Given the description of an element on the screen output the (x, y) to click on. 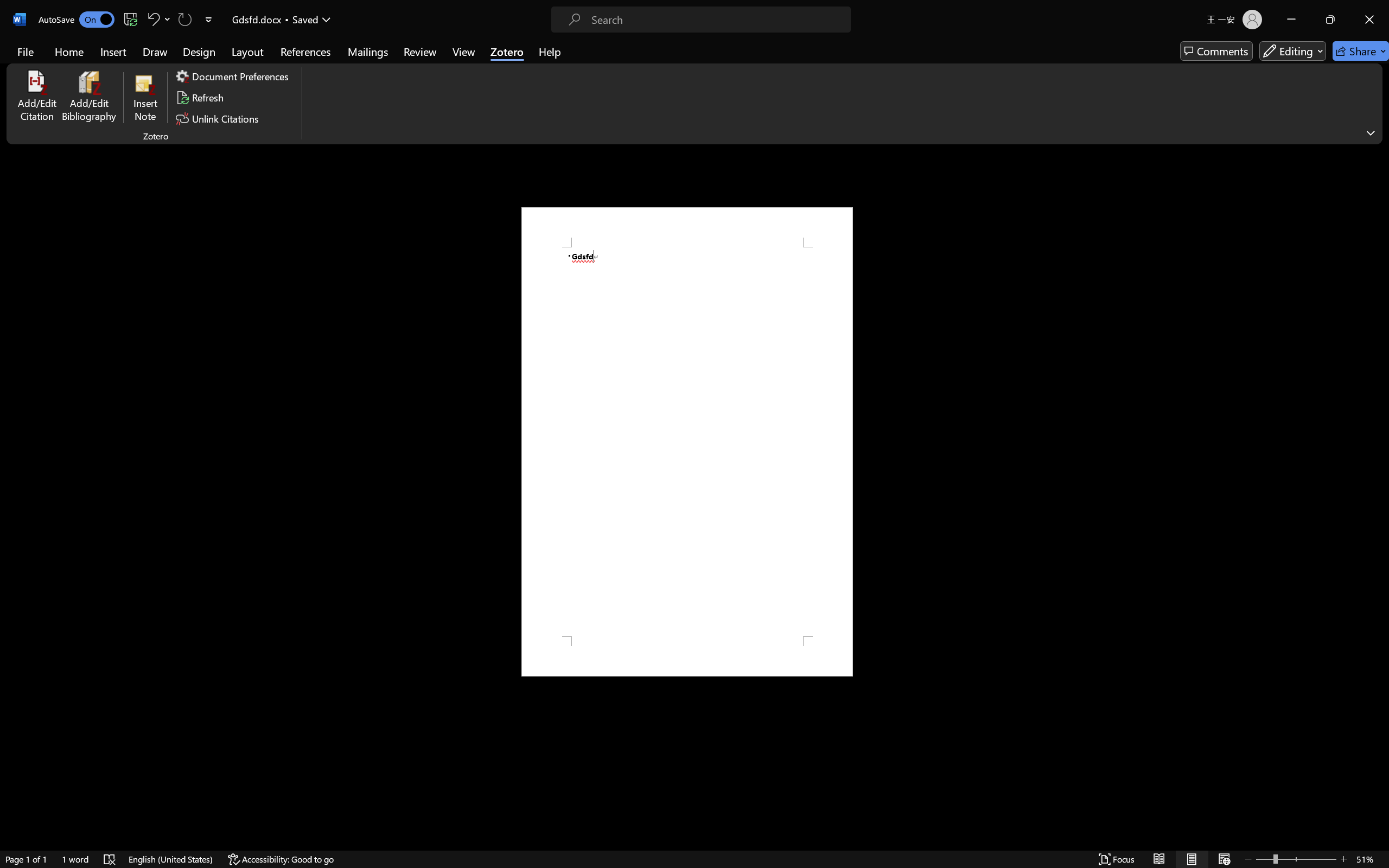
Page 1 content (686, 441)
